Given the description of an element on the screen output the (x, y) to click on. 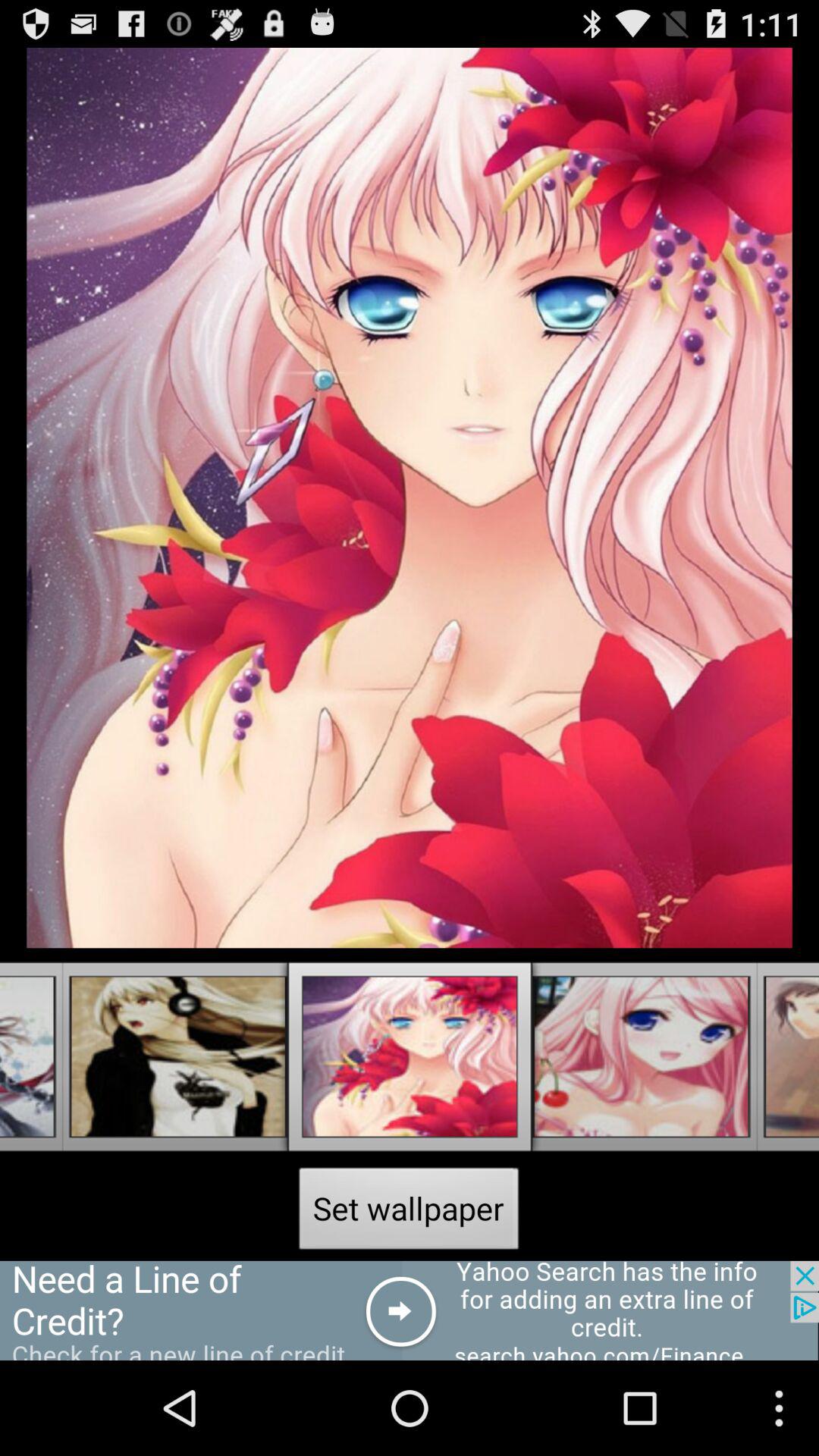
add button (409, 1310)
